Given the description of an element on the screen output the (x, y) to click on. 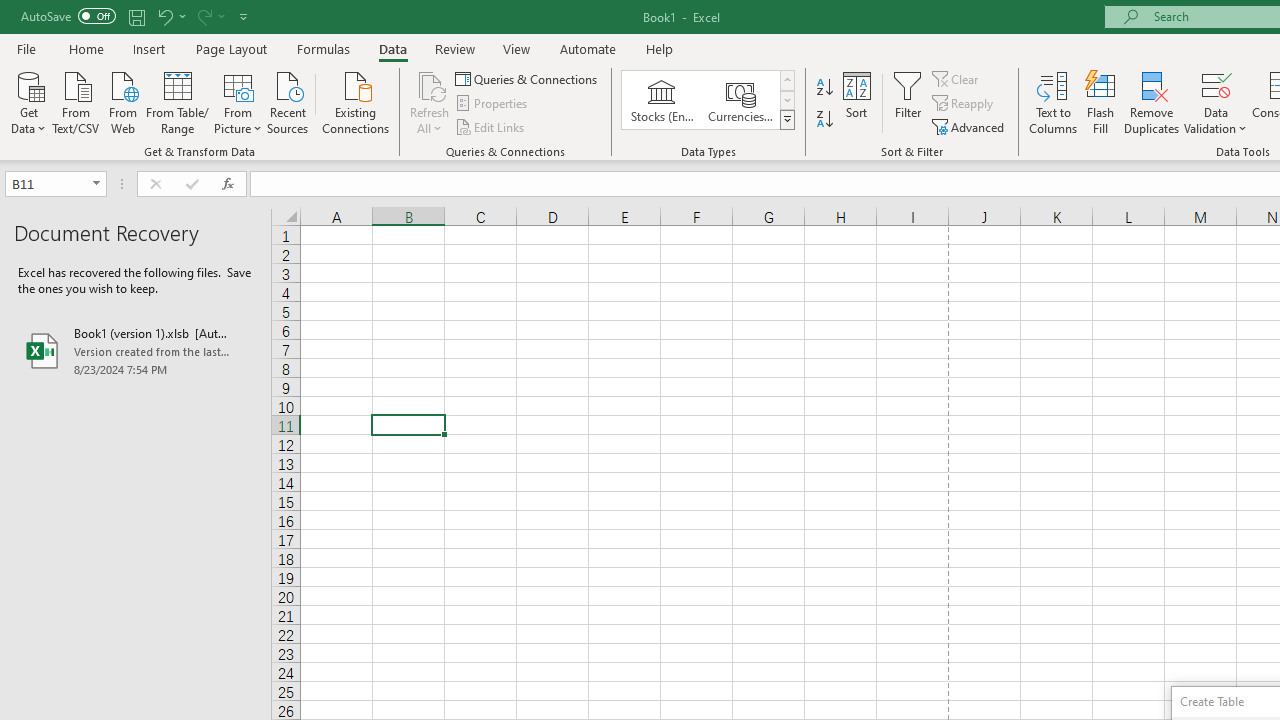
From Web (122, 101)
From Text/CSV (75, 101)
Get Data (28, 101)
From Table/Range (177, 101)
Data Validation... (1215, 84)
Book1 (version 1).xlsb  [AutoRecovered] (136, 350)
Currencies (English) (740, 100)
Edit Links (491, 126)
Automate (588, 48)
